Given the description of an element on the screen output the (x, y) to click on. 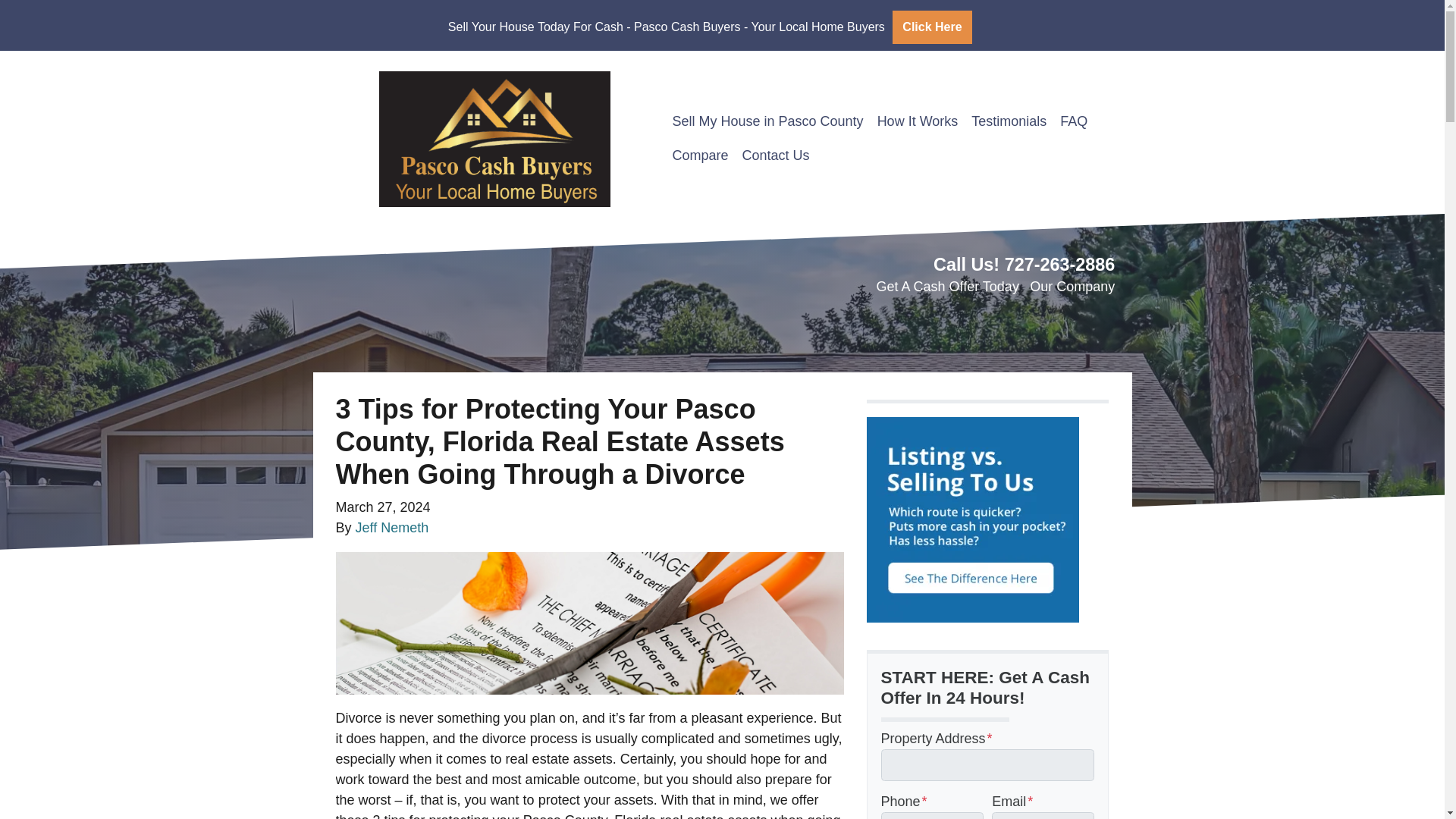
Compare (700, 155)
Click Here (932, 27)
Get A Cash Offer Today (946, 286)
Contact Us (775, 155)
How It Works (917, 121)
Sell My House in Pasco County (767, 121)
Our Company (1072, 286)
Contact Us (775, 155)
FAQ (1073, 121)
Sell My House in Pasco County (767, 121)
Testimonials (1007, 121)
Compare (700, 155)
Testimonials (1007, 121)
FAQ (1073, 121)
How It Works (917, 121)
